Given the description of an element on the screen output the (x, y) to click on. 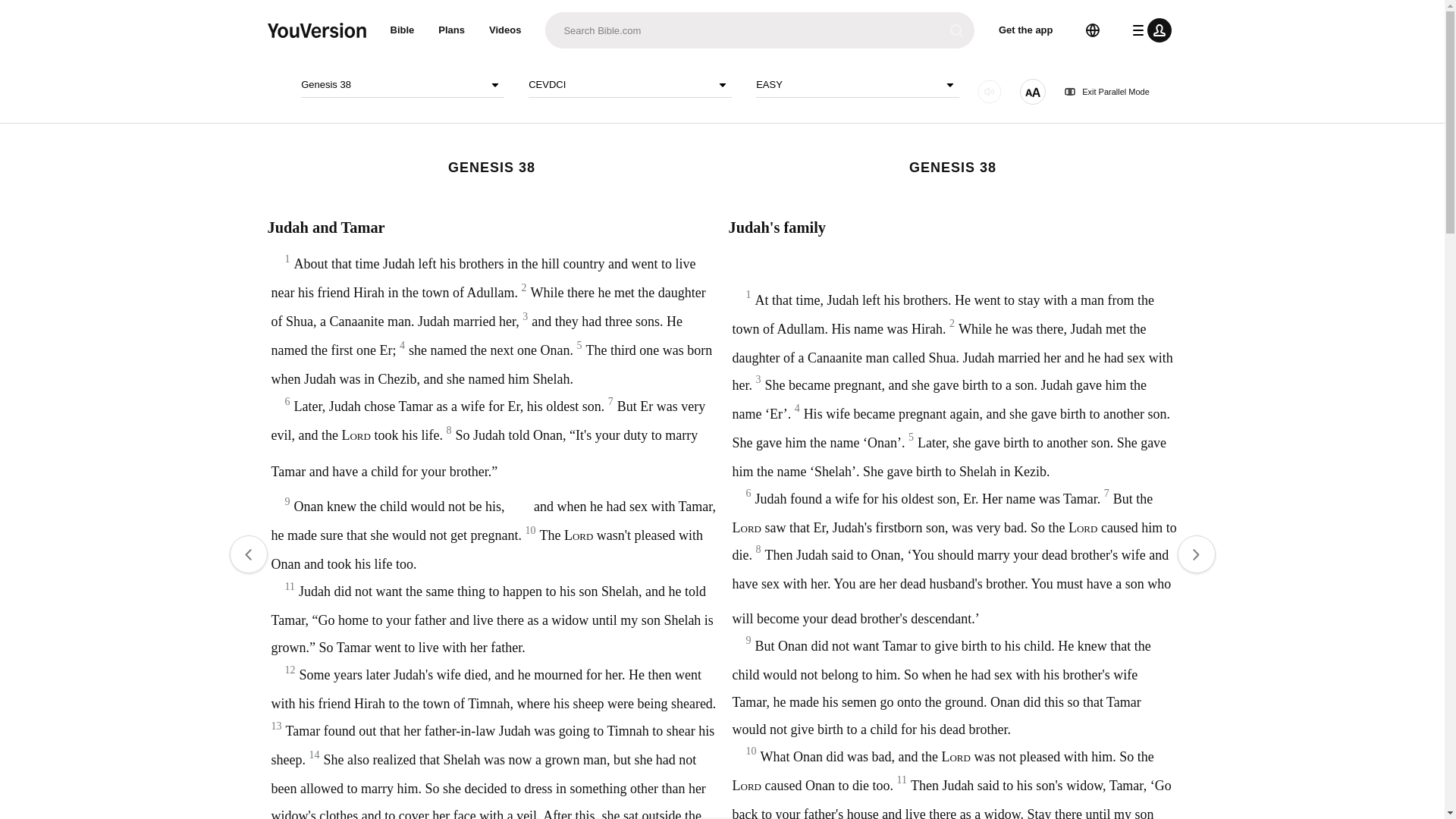
Exit Parallel Mode (1107, 91)
EASY (857, 84)
Bible (401, 29)
Videos (504, 29)
Get the app (1026, 29)
Plans (451, 29)
Genesis 38 (402, 84)
CEVDCI (630, 84)
